Given the description of an element on the screen output the (x, y) to click on. 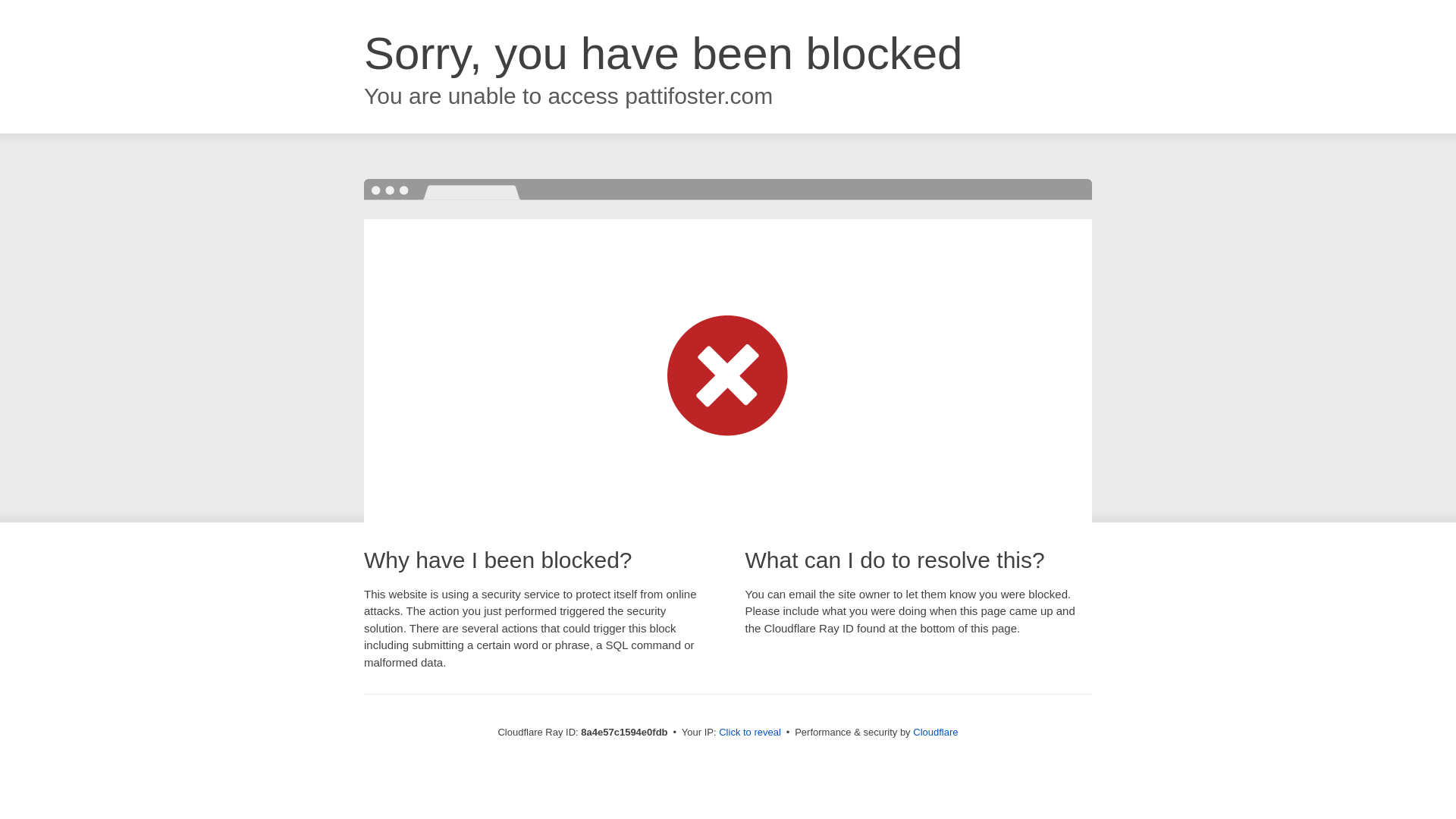
Cloudflare (935, 731)
Click to reveal (749, 732)
